Given the description of an element on the screen output the (x, y) to click on. 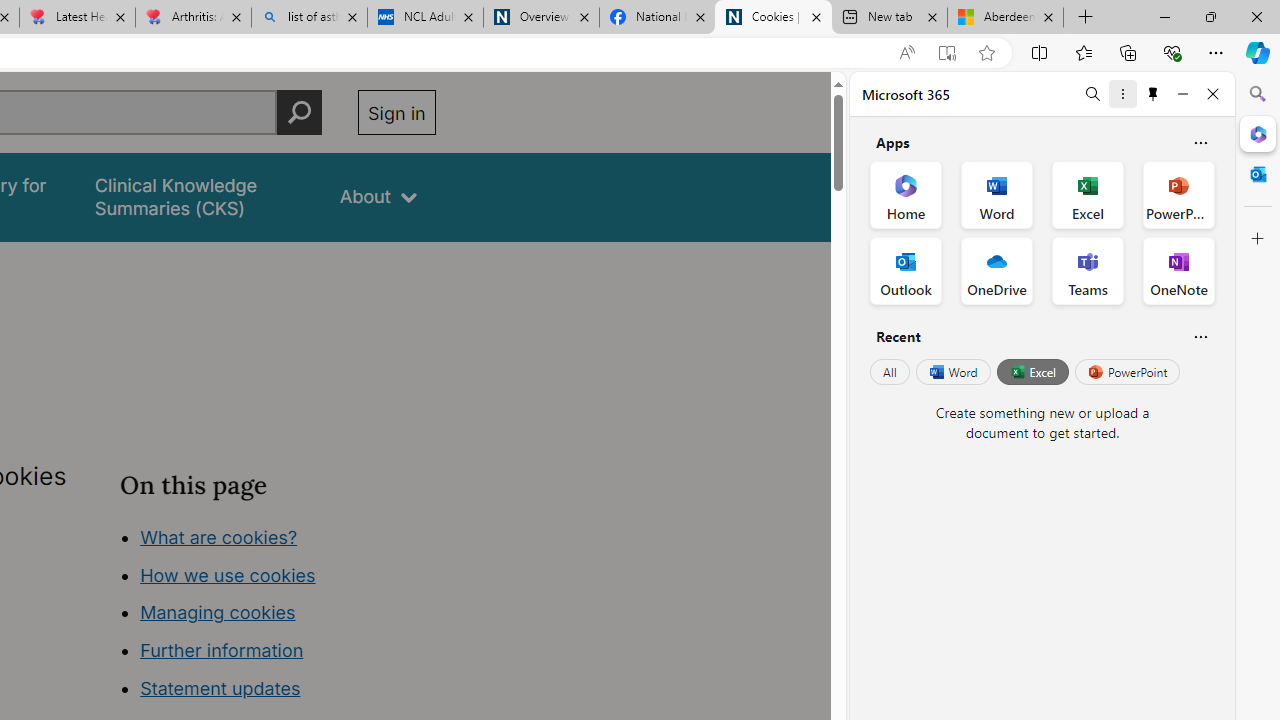
Perform search (299, 112)
Managing cookies (217, 612)
Outlook Office App (906, 270)
PowerPoint Office App (1178, 194)
Further information (221, 650)
OneNote Office App (1178, 270)
